Given the description of an element on the screen output the (x, y) to click on. 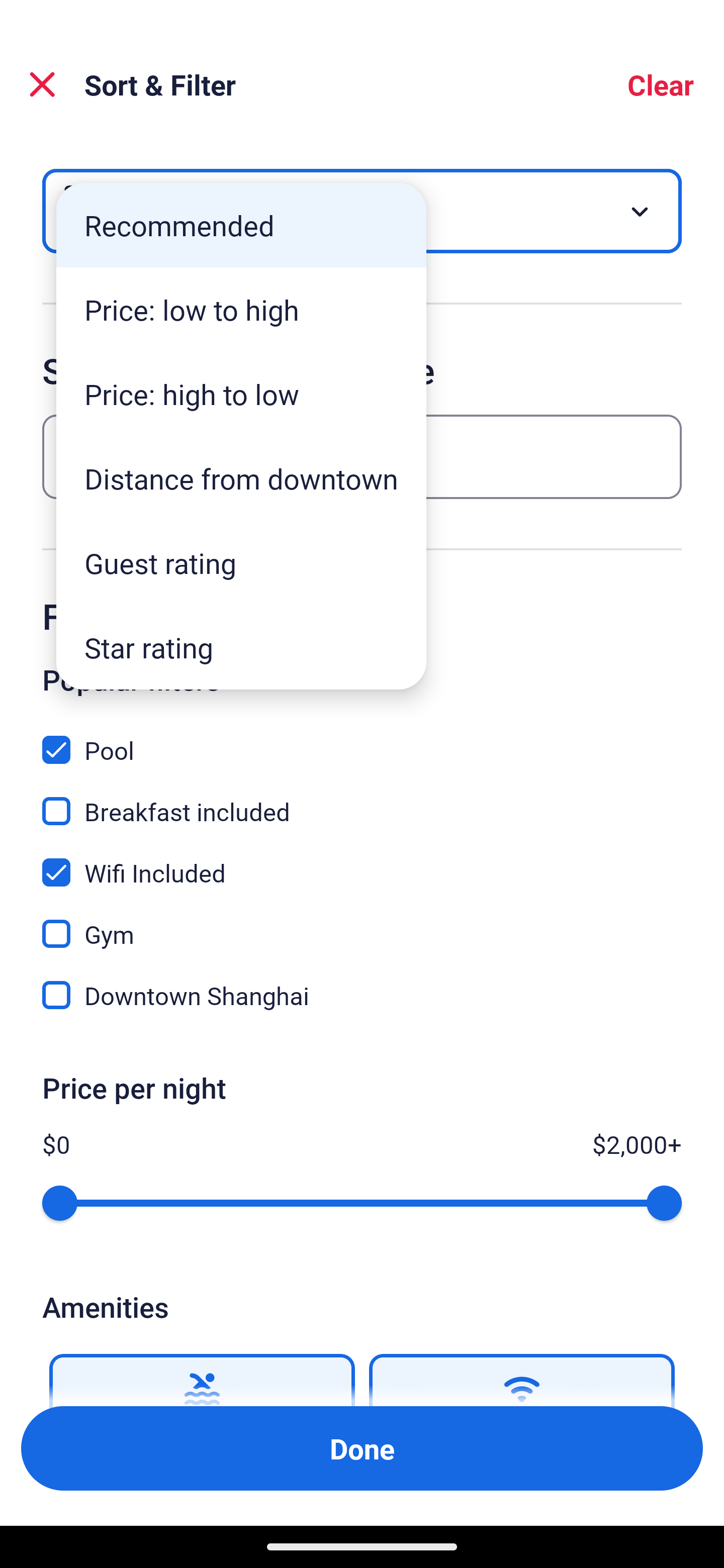
Price: low to high (241, 309)
Price: high to low (241, 393)
Distance from downtown (241, 477)
Guest rating (241, 562)
Star rating (241, 647)
